Given the description of an element on the screen output the (x, y) to click on. 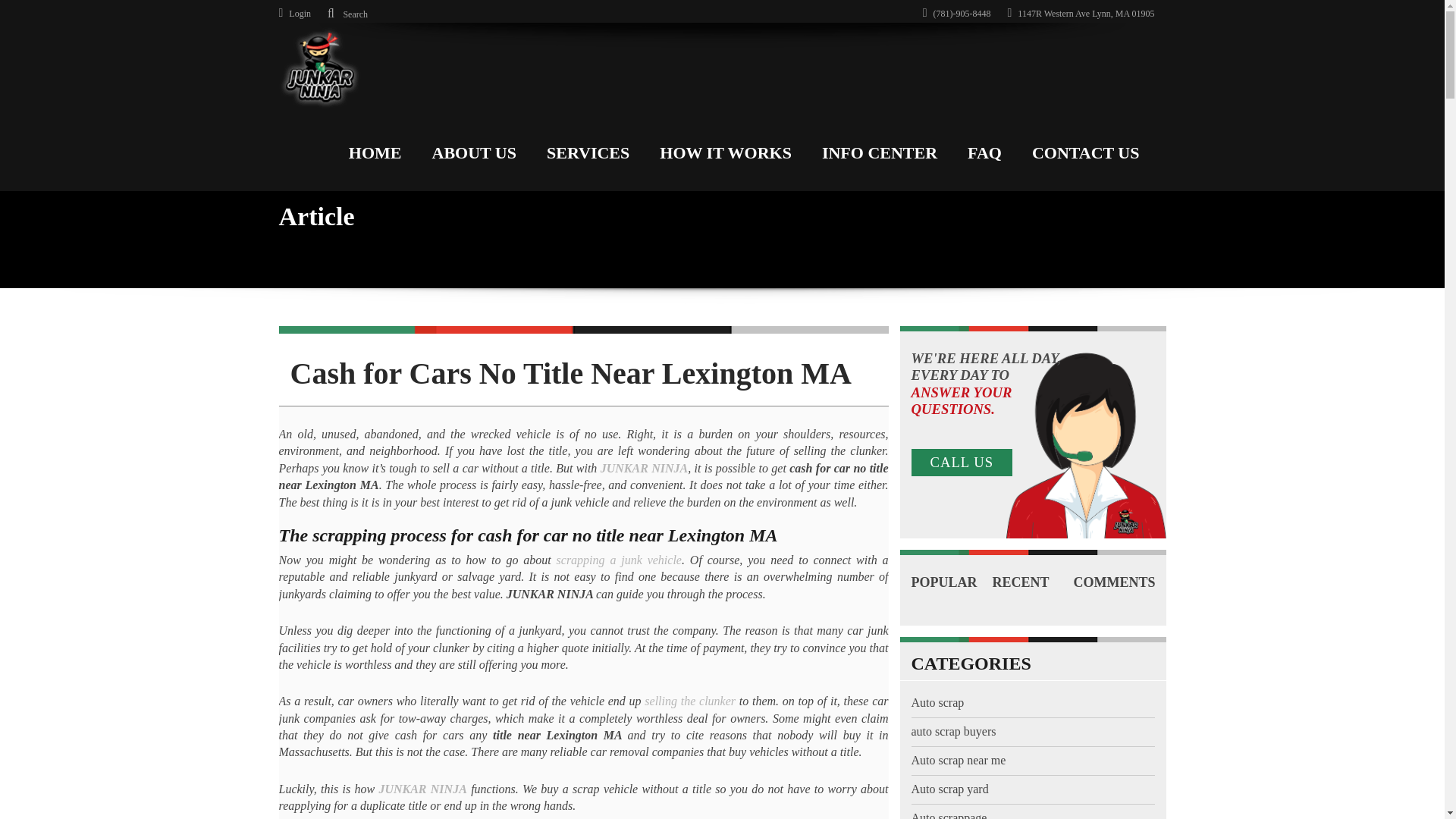
JUNKAR NINJA (421, 788)
SERVICES (588, 149)
RECENT (939, 595)
auto scrap buyers (953, 749)
Auto scrap (937, 721)
HOW IT WORKS (725, 149)
scrapping a junk vehicle (618, 559)
JUNKAR NINJA (643, 468)
Login (295, 13)
CALL US (962, 461)
Auto scrap near me (958, 779)
POPULAR (943, 575)
1147R Western Ave Lynn, MA 01905 (1080, 13)
Auto scrap yard (949, 807)
HOME (374, 149)
